Given the description of an element on the screen output the (x, y) to click on. 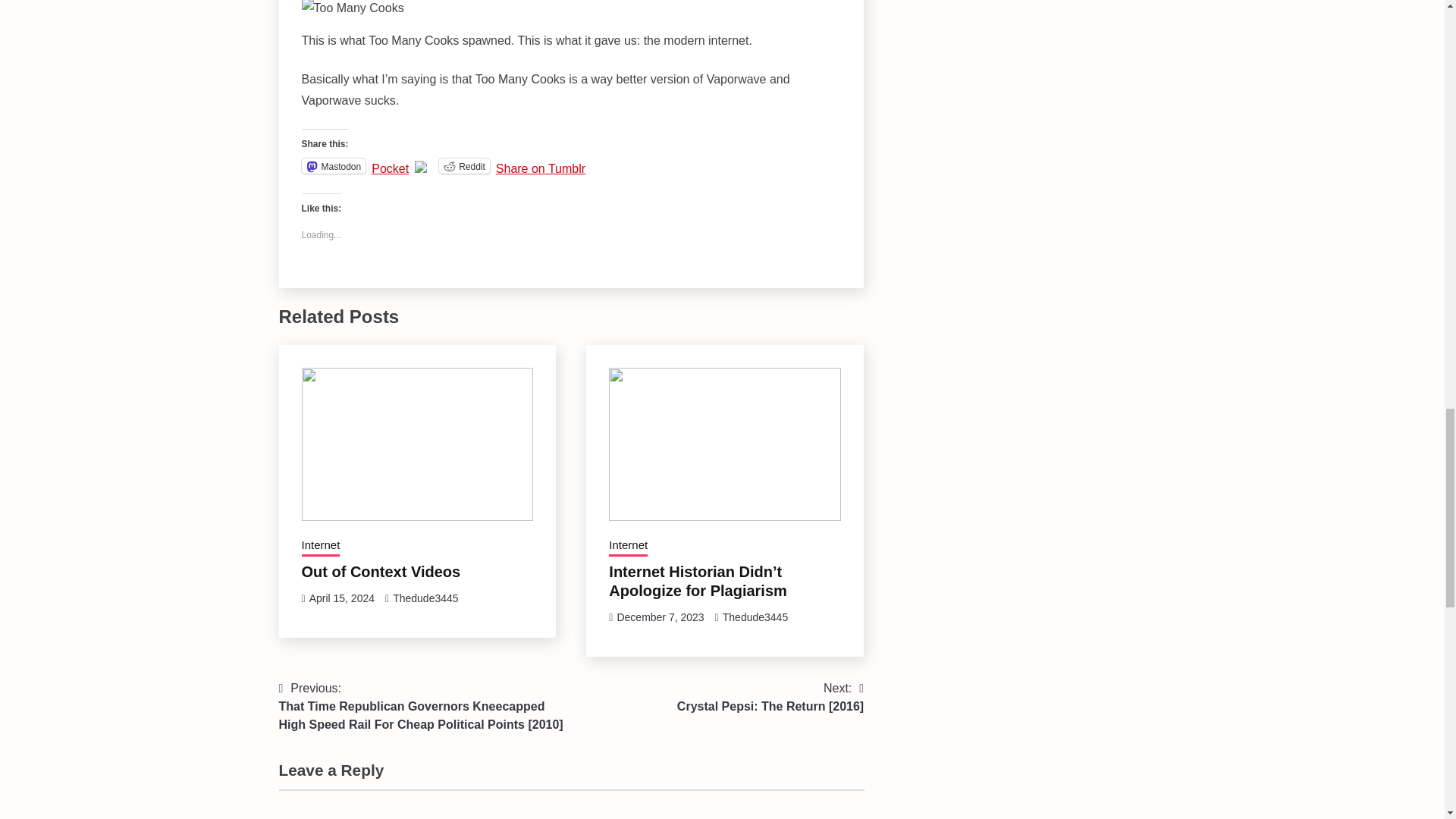
Share on Tumblr (540, 164)
Pocket (390, 168)
Mastodon (333, 165)
Click to share on Reddit (464, 165)
April 15, 2024 (341, 598)
Click to share on Mastodon (333, 165)
Out of Context Videos (381, 571)
Comment Form (571, 804)
Share on Tumblr (540, 164)
Reddit (464, 165)
